Given the description of an element on the screen output the (x, y) to click on. 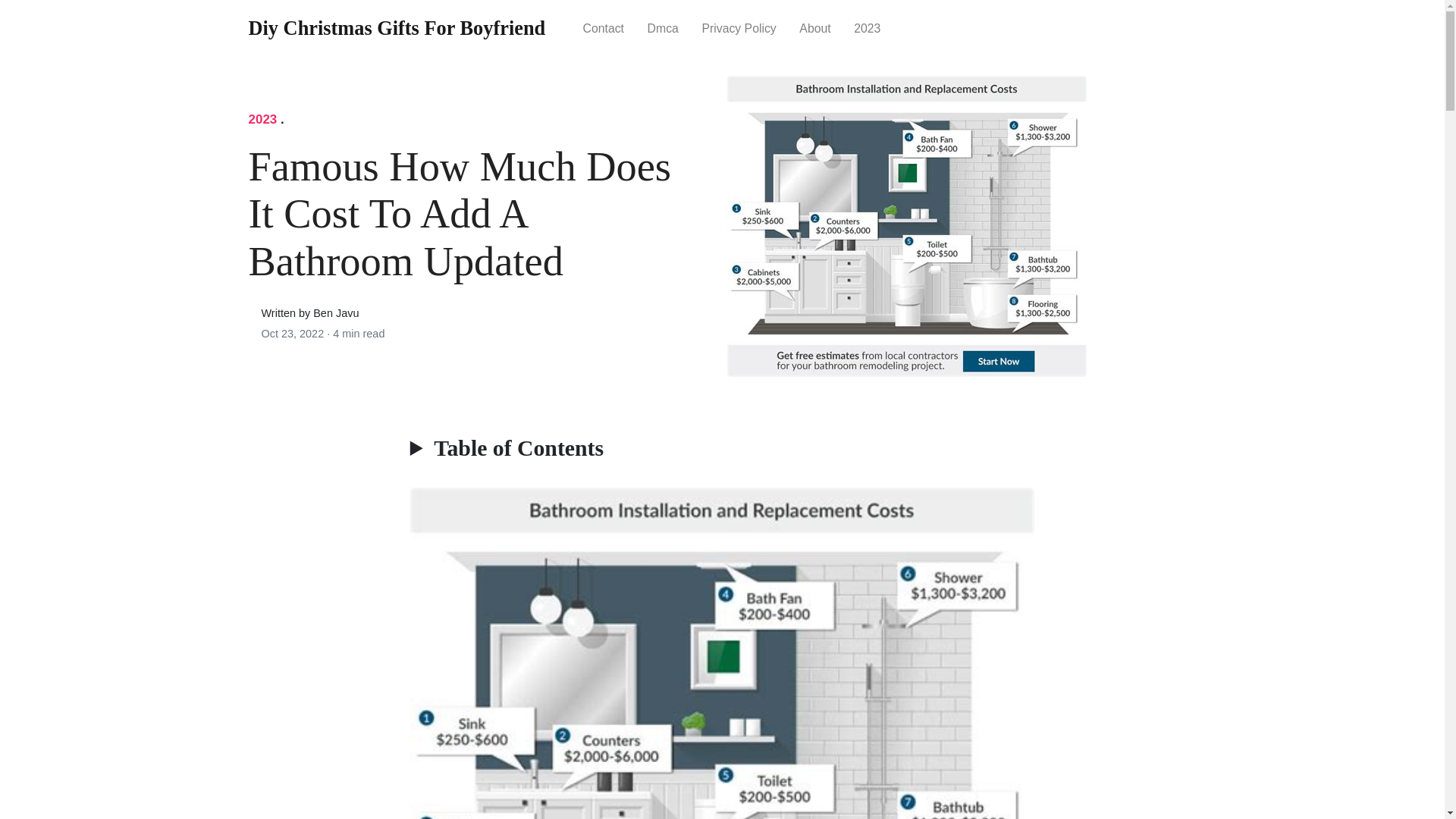
Privacy Policy (738, 27)
About (815, 27)
2023 (867, 27)
Diy Christmas Gifts For Boyfriend (397, 28)
Contact (602, 27)
2023 (263, 119)
2023 (263, 119)
Dmca (662, 27)
2023 (867, 27)
